Given the description of an element on the screen output the (x, y) to click on. 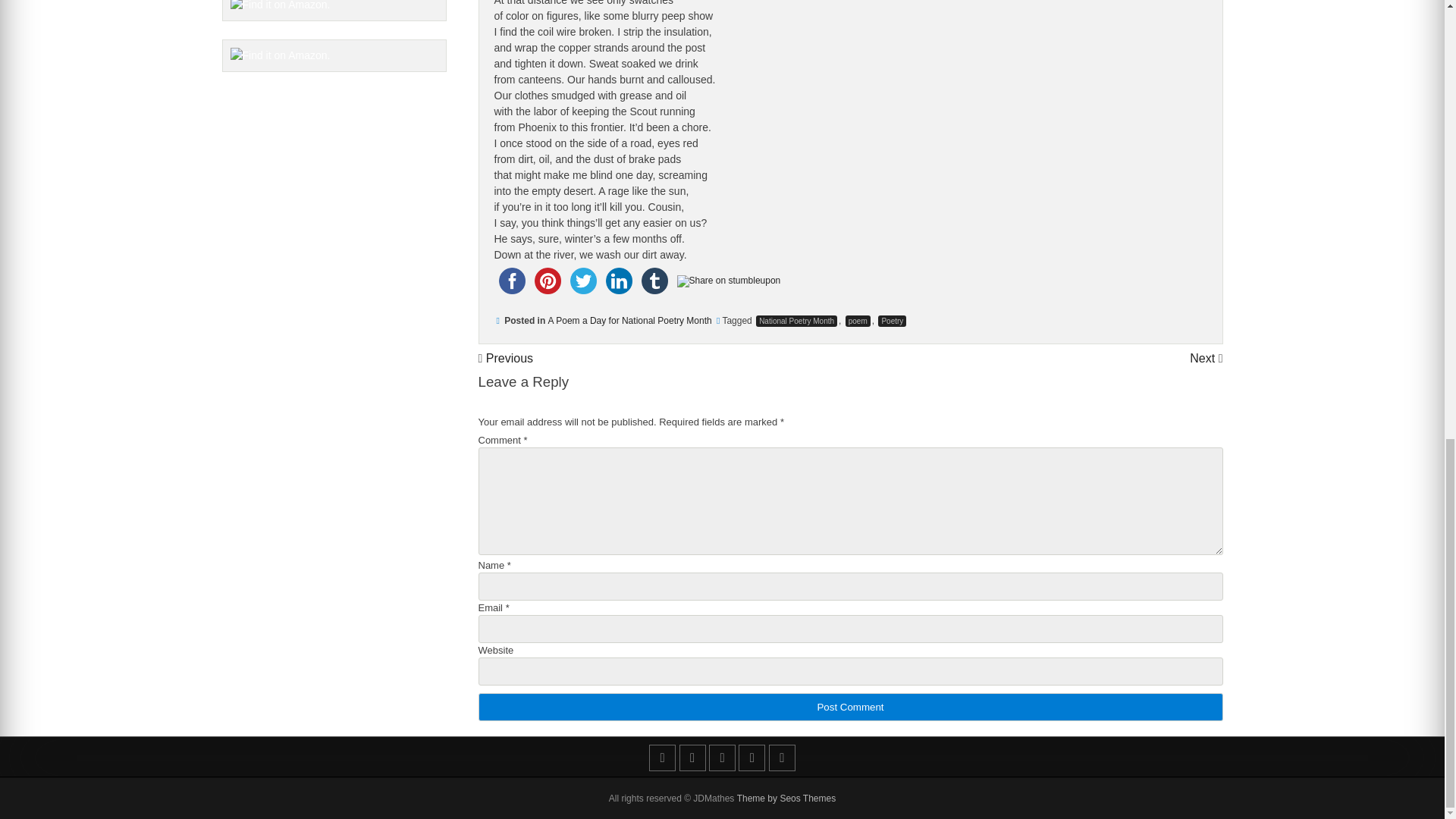
stumbleupon (727, 281)
linkedin (617, 280)
poem (857, 320)
Next (1203, 358)
National Poetry Month (796, 320)
pinterest (546, 280)
Post Comment (850, 706)
Poetry (891, 320)
tumblr (654, 280)
A Poem a Day for National Poetry Month (629, 320)
